Given the description of an element on the screen output the (x, y) to click on. 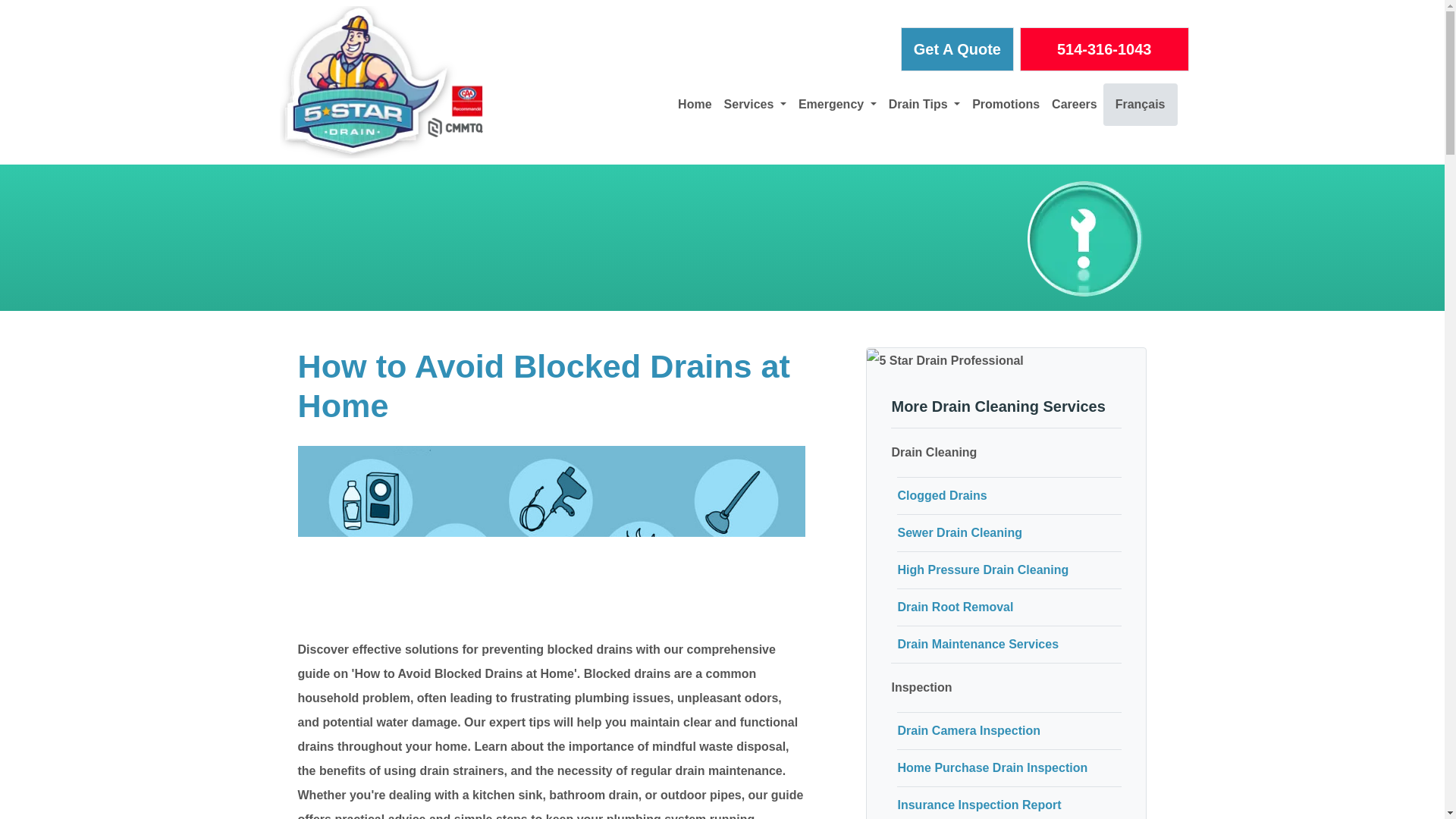
Home (694, 104)
Drain Tips (924, 104)
Services (754, 104)
Promotions (1005, 104)
Careers (1074, 104)
Emergency (837, 104)
Get A Quote (957, 49)
514-316-1043 (1104, 49)
